Given the description of an element on the screen output the (x, y) to click on. 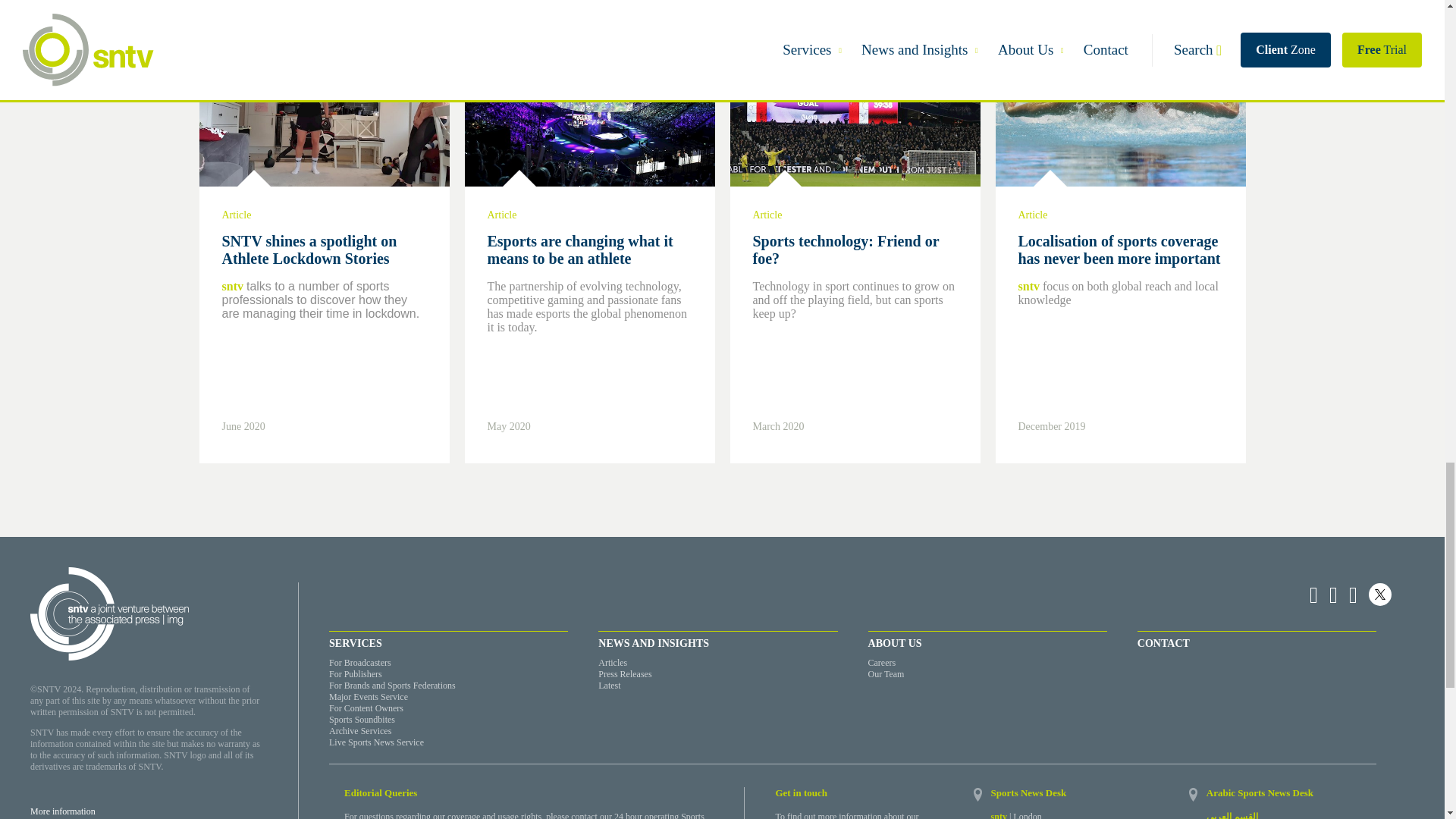
Sports technology: Friend or foe? (845, 249)
SNTV shines a spotlight on Athlete Lockdown Stories (308, 249)
Esports are changing what it means to be an athlete (579, 249)
